Given the description of an element on the screen output the (x, y) to click on. 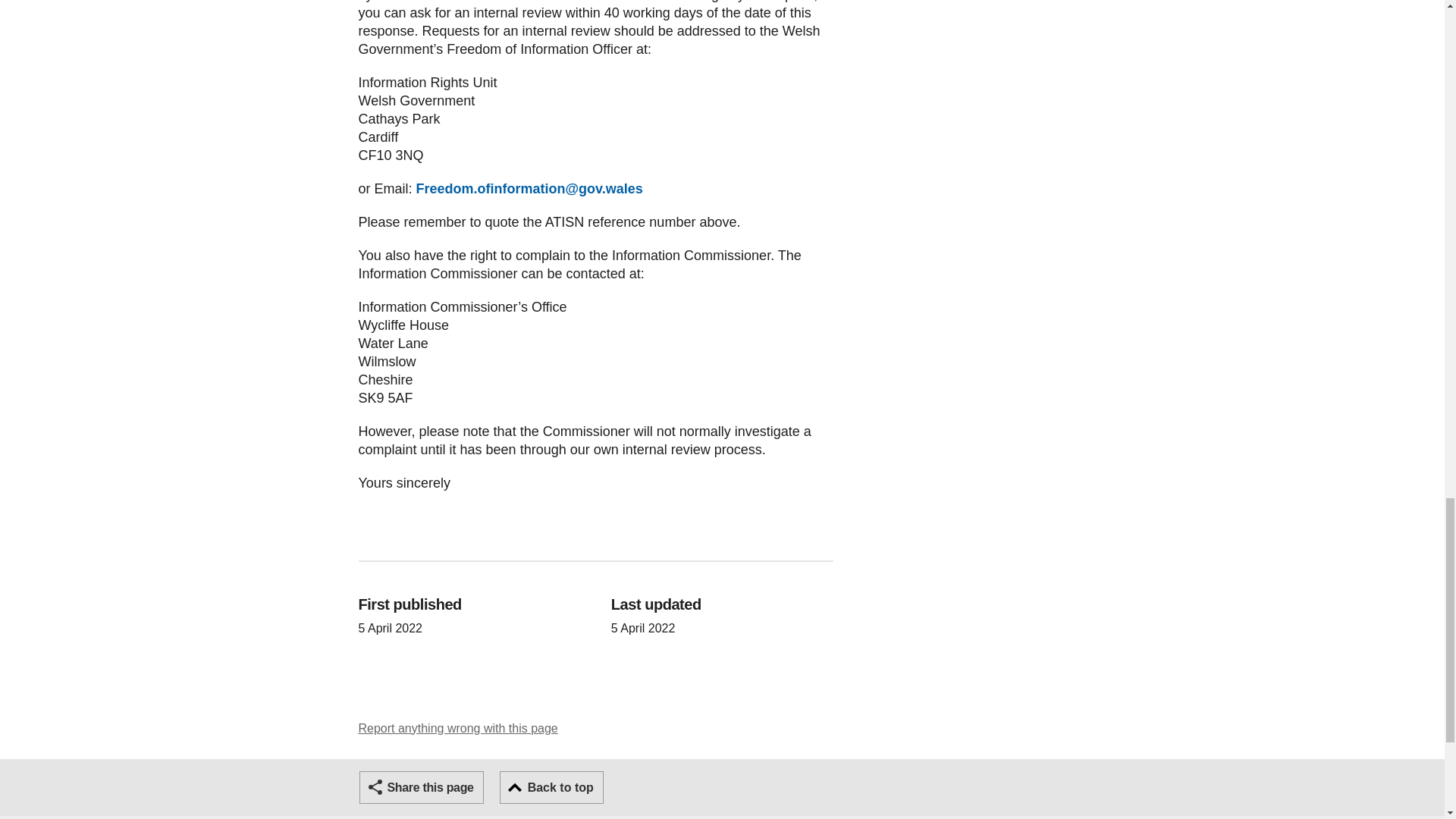
Report anything wrong with this page (457, 727)
Share this page (421, 787)
Back to top (551, 787)
